Given the description of an element on the screen output the (x, y) to click on. 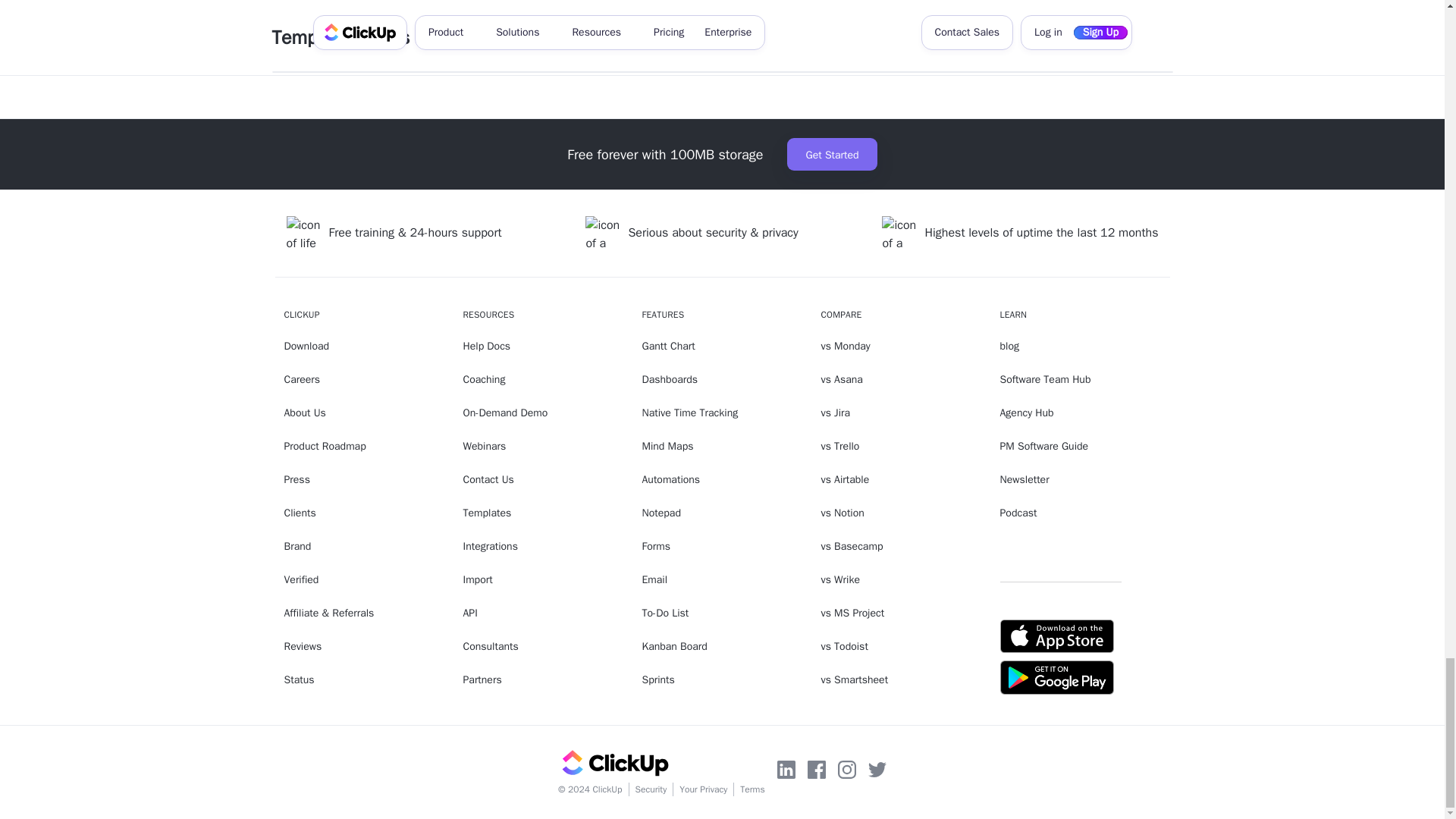
Get Started (831, 154)
